Given the description of an element on the screen output the (x, y) to click on. 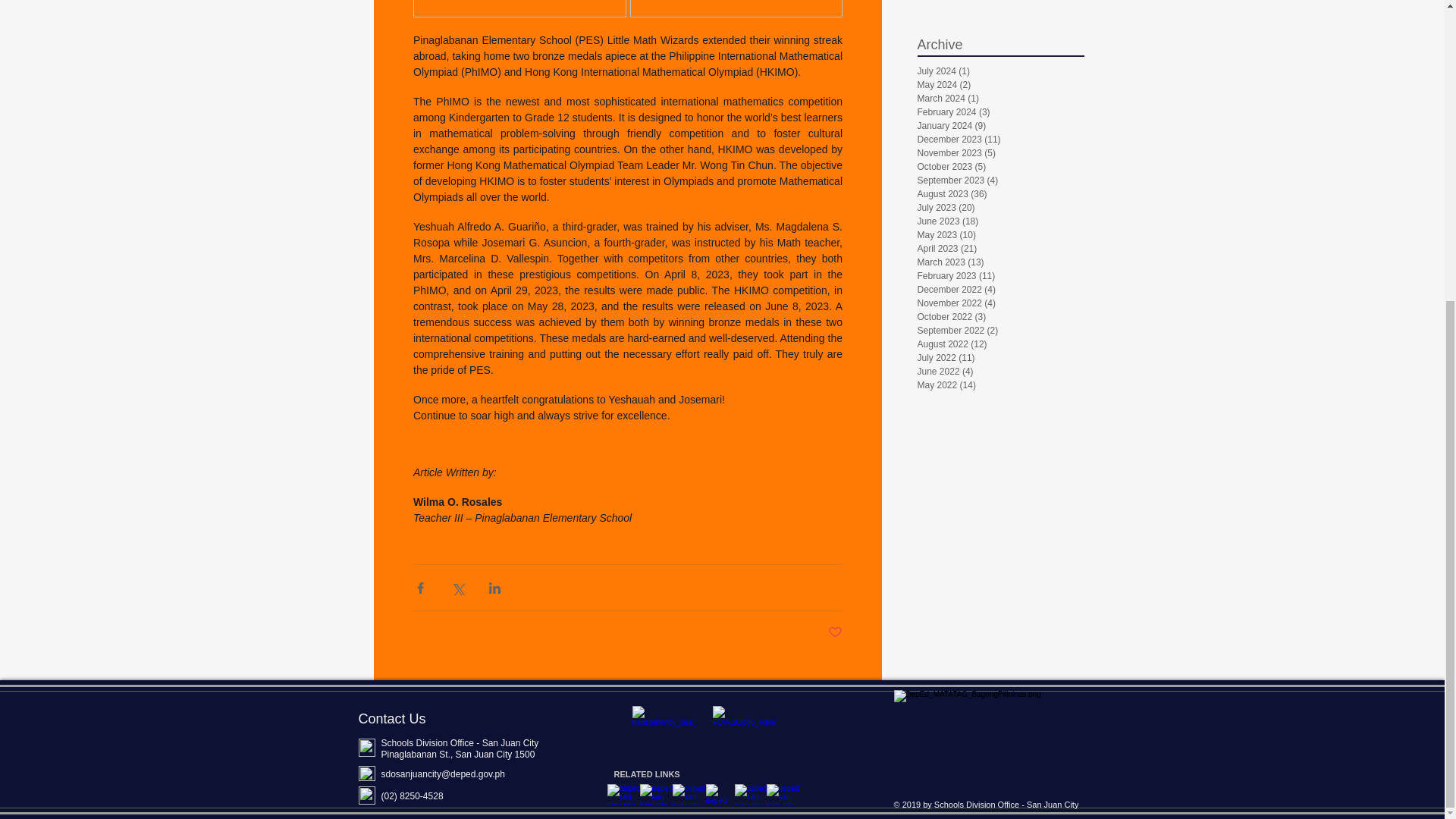
Civil Service Commission (657, 794)
Pagibig (751, 794)
City of San Juan (783, 794)
Post not marked as liked (835, 632)
Department of Education (624, 794)
Government Service Insurance System (719, 794)
Commission on Audit (689, 794)
Facebook Like (988, 793)
